Given the description of an element on the screen output the (x, y) to click on. 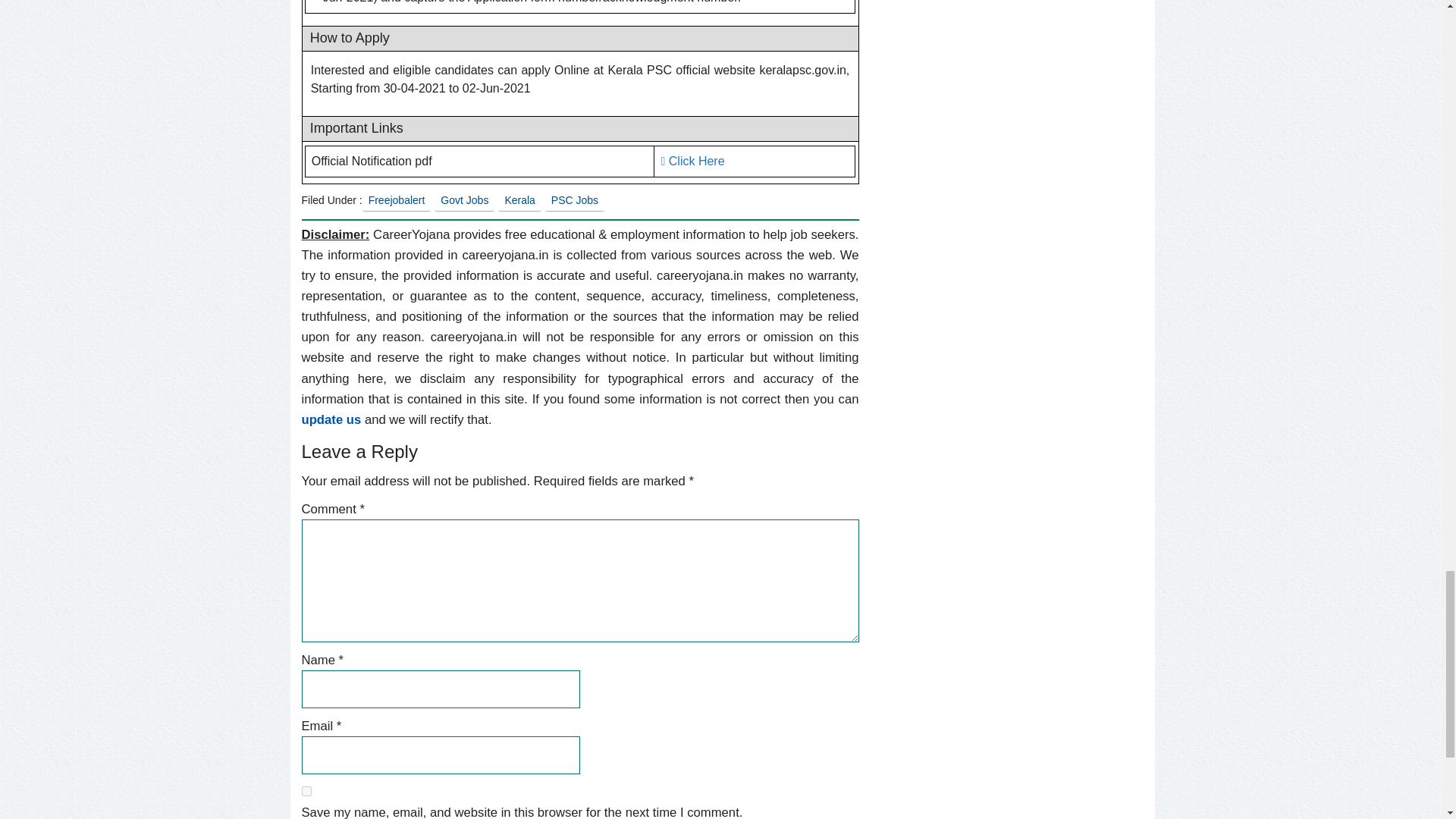
yes (306, 791)
PSC Jobs (574, 200)
Kerala (518, 200)
update us (331, 419)
Govt Jobs (464, 200)
Freejobalert (396, 200)
Click Here (692, 160)
